Given the description of an element on the screen output the (x, y) to click on. 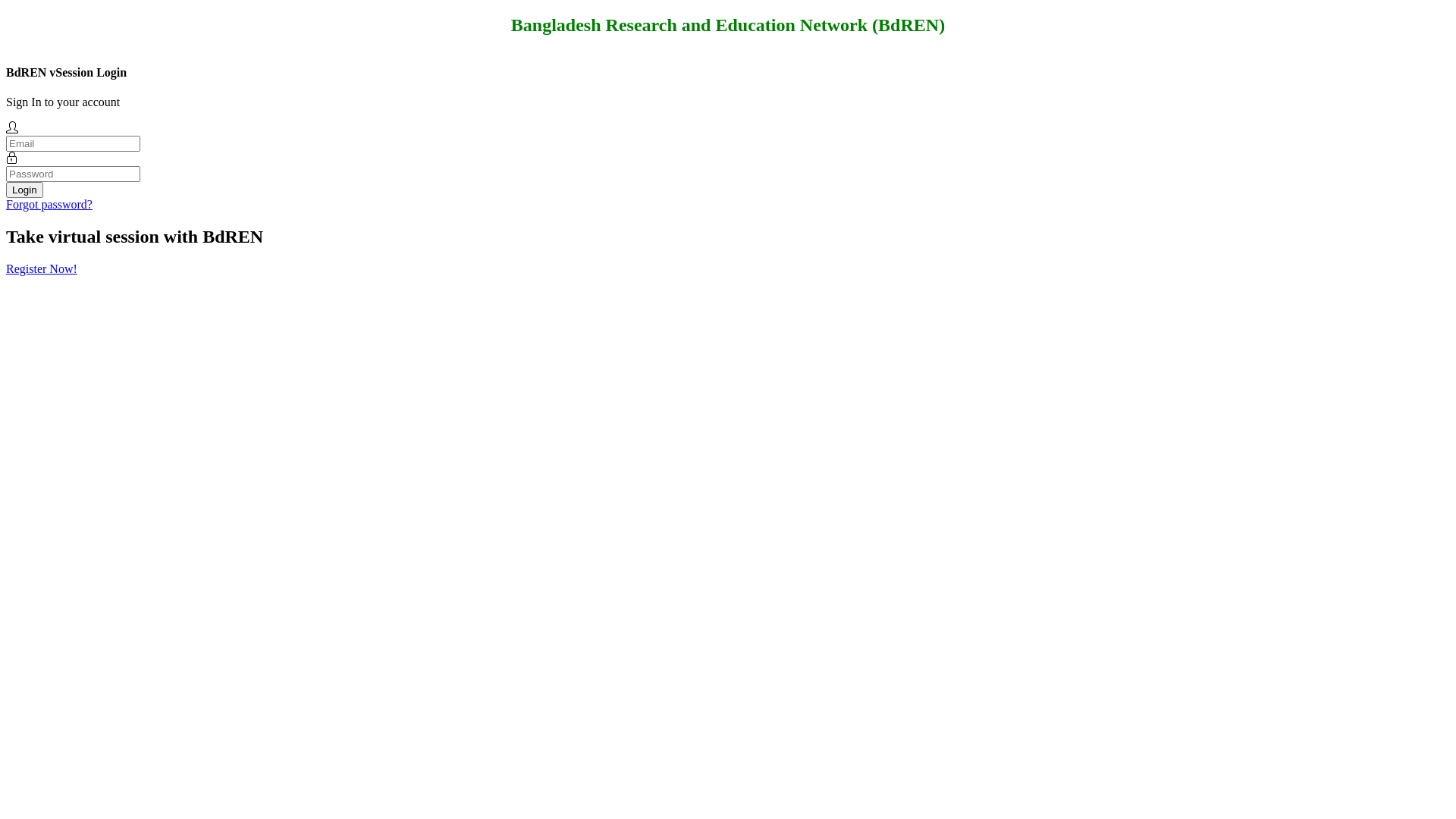
Forgot password? Element type: text (49, 203)
Login Element type: text (24, 189)
Register Now! Element type: text (41, 268)
